Given the description of an element on the screen output the (x, y) to click on. 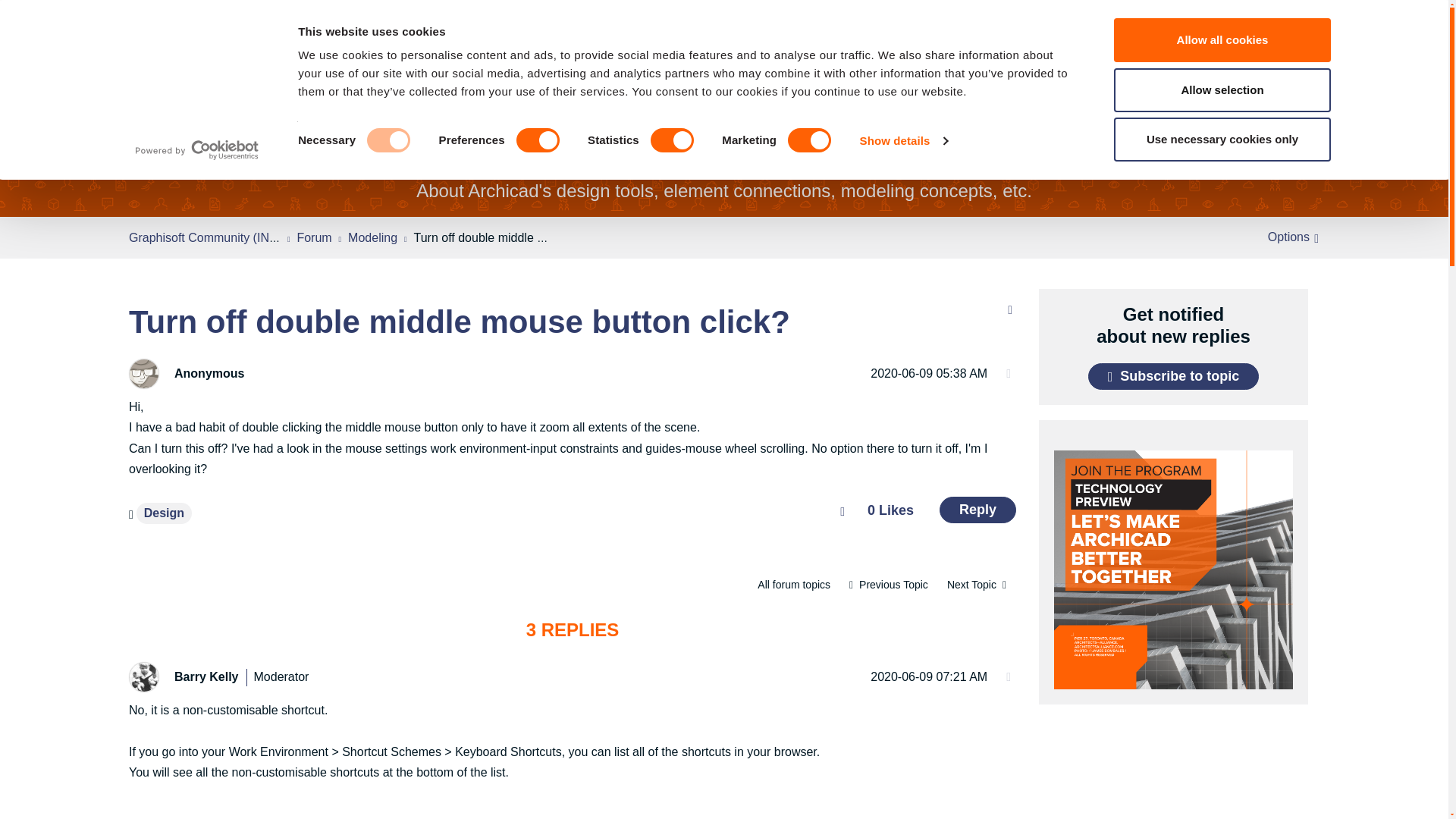
Search (167, 24)
Search (167, 24)
Show details (903, 140)
